Given the description of an element on the screen output the (x, y) to click on. 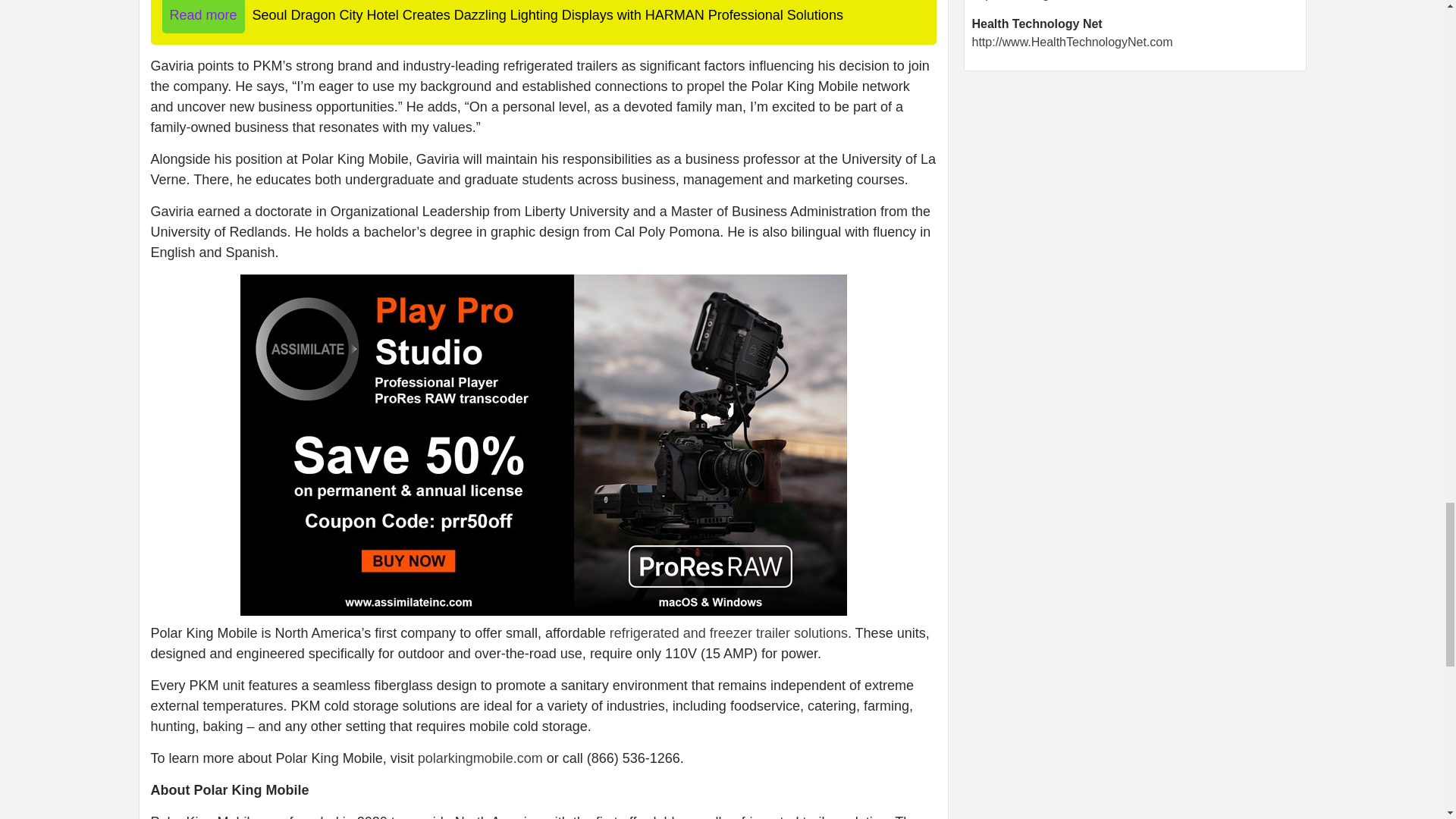
refrigerated and freezer trailer solutions (728, 632)
polarkingmobile.com (480, 758)
